Given the description of an element on the screen output the (x, y) to click on. 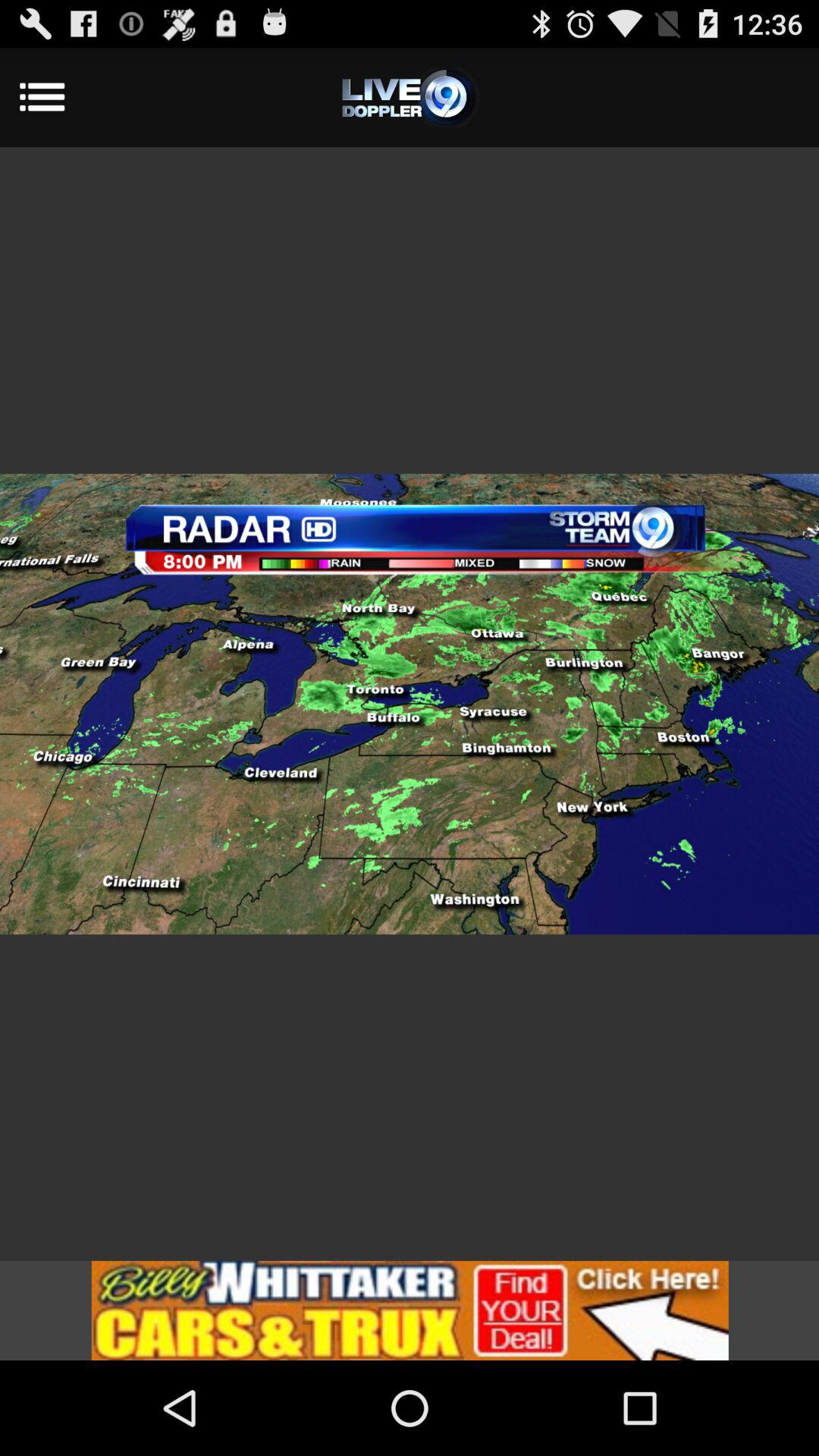
launch item at the center (409, 703)
